Given the description of an element on the screen output the (x, y) to click on. 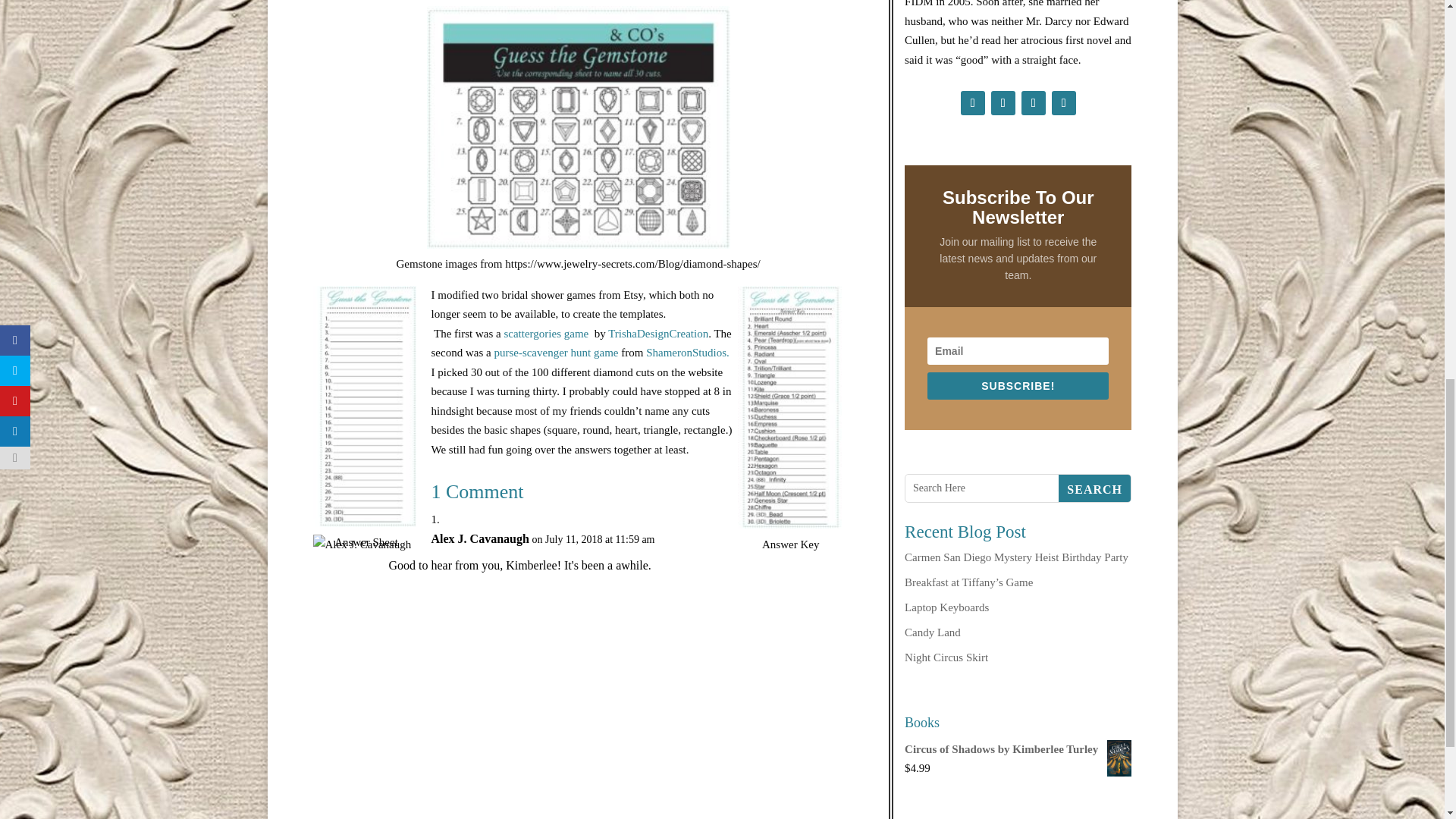
Circus of Shadows by Kimberlee Turley (1017, 750)
Follow on Facebook (972, 102)
Follow on Instagram (1002, 102)
ShameronStudios. (687, 352)
Search (1094, 488)
Follow on TikTok (1033, 102)
scattergories game (547, 333)
Laptop Keyboards (946, 607)
Alex J. Cavanaugh (479, 538)
Candy Land (932, 632)
SUBSCRIBE! (1017, 385)
Search (1094, 488)
TrishaDesignCreation (657, 333)
Search (1094, 488)
Carmen San Diego Mystery Heist Birthday Party (1016, 557)
